Given the description of an element on the screen output the (x, y) to click on. 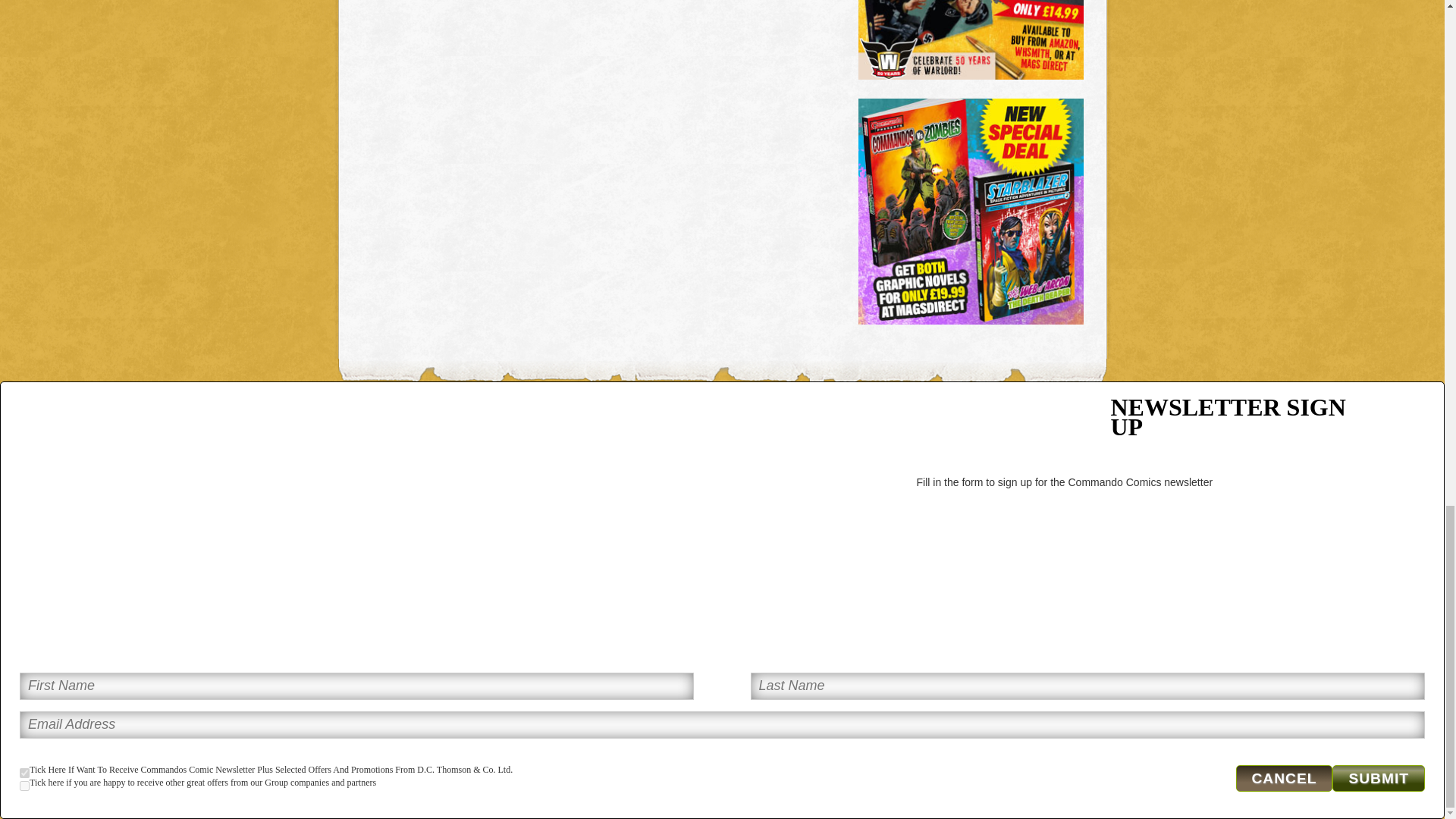
Cookie Policy (575, 509)
The Collection (382, 458)
Privacy Policy (575, 483)
Advertising (569, 431)
Submissions (379, 483)
Like us on Facebook (785, 513)
About Subscriptions (397, 509)
Terms and Conditions (595, 458)
Digital Subscription (411, 524)
Y (24, 786)
